Given the description of an element on the screen output the (x, y) to click on. 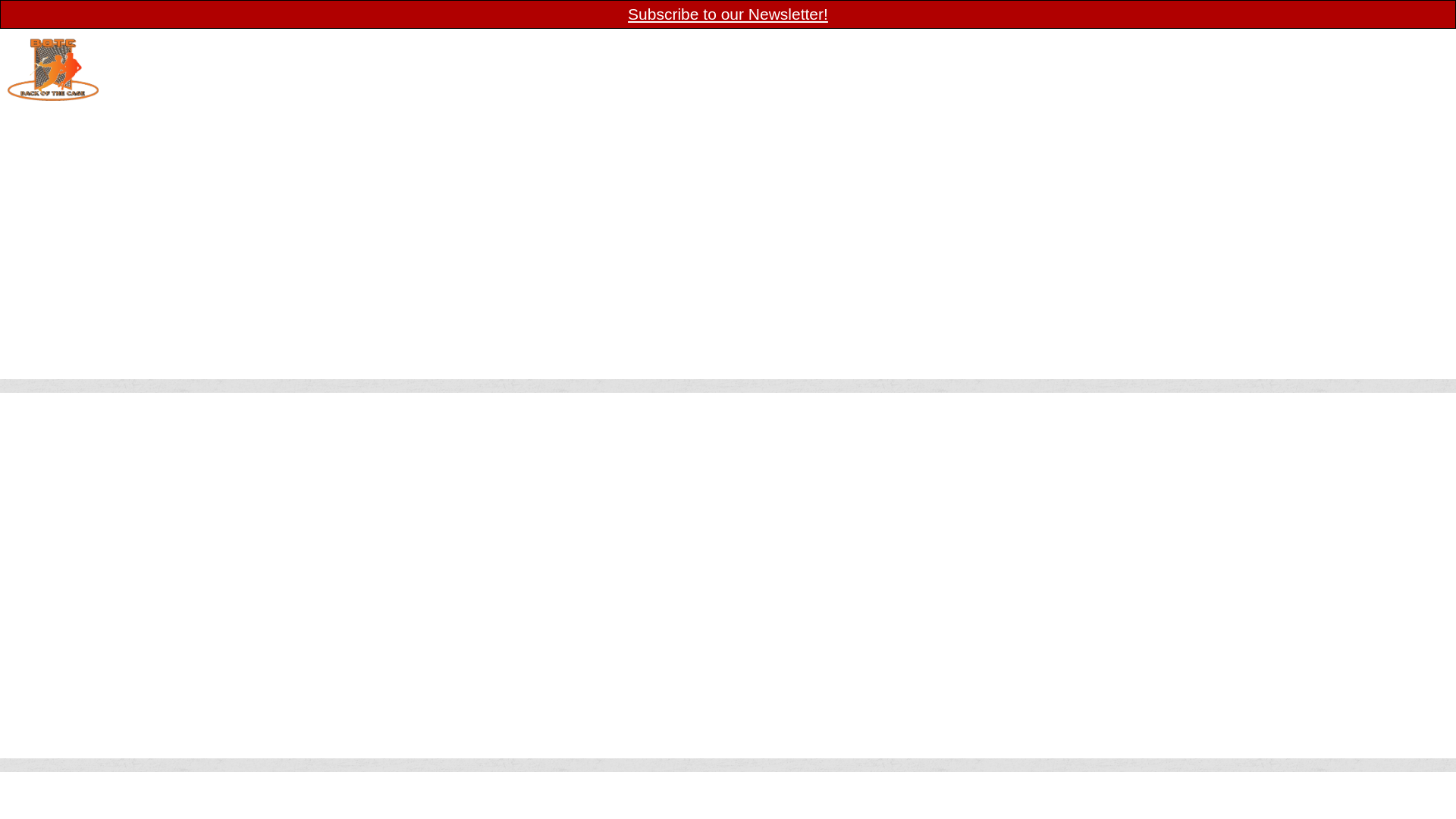
Visit us on Instagram! (1409, 52)
Visit us on Facebook! (1321, 52)
Subscribe to our Newsletter! (727, 13)
Download our App on the Play Store! (1380, 52)
Visit us on Twitter! (1351, 52)
Visit us on YouTube! (1437, 49)
